Given the description of an element on the screen output the (x, y) to click on. 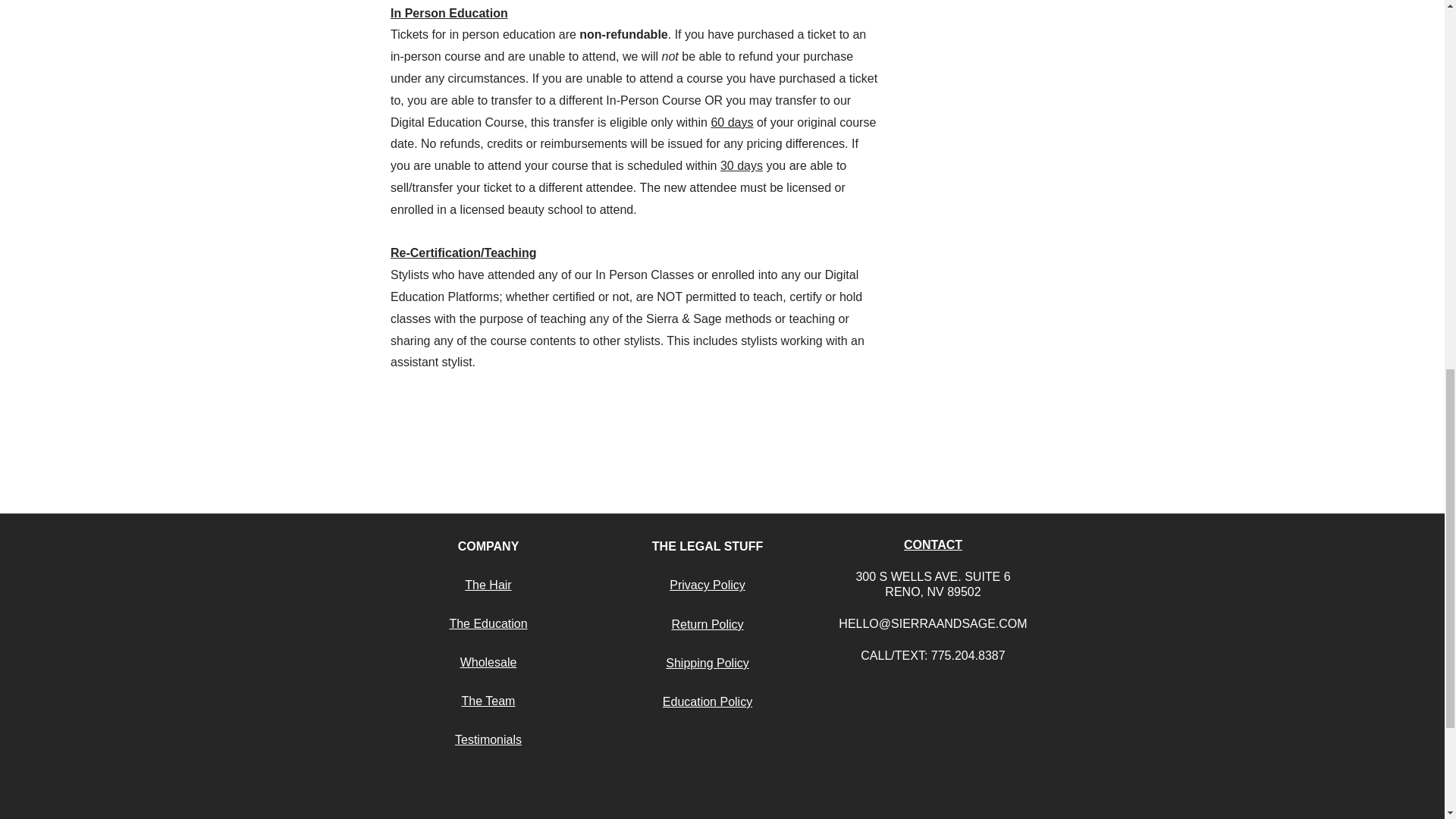
The Team (488, 700)
The Hair (487, 584)
The Education (487, 623)
Return Policy (706, 624)
Wholesale (488, 662)
Privacy Policy (707, 584)
Testimonials (487, 739)
